Given the description of an element on the screen output the (x, y) to click on. 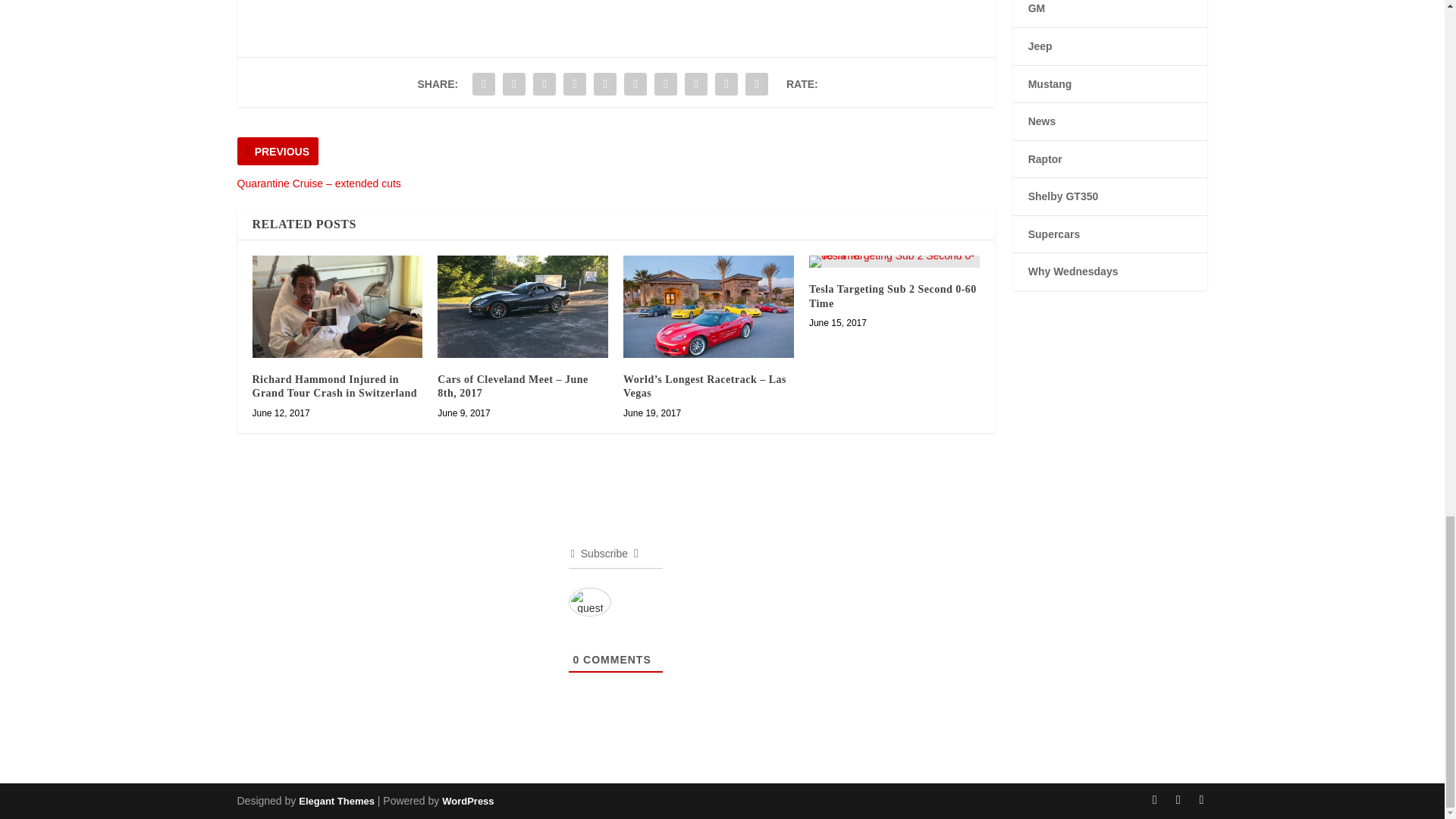
Share "Covid 19 lease return issues" via Buffer (665, 83)
Share "Covid 19 lease return issues" via LinkedIn (635, 83)
Share "Covid 19 lease return issues" via Tumblr (574, 83)
Share "Covid 19 lease return issues" via Twitter (514, 83)
Share "Covid 19 lease return issues" via Stumbleupon (696, 83)
Share "Covid 19 lease return issues" via Facebook (483, 83)
Share "Covid 19 lease return issues" via Pinterest (604, 83)
